Given the description of an element on the screen output the (x, y) to click on. 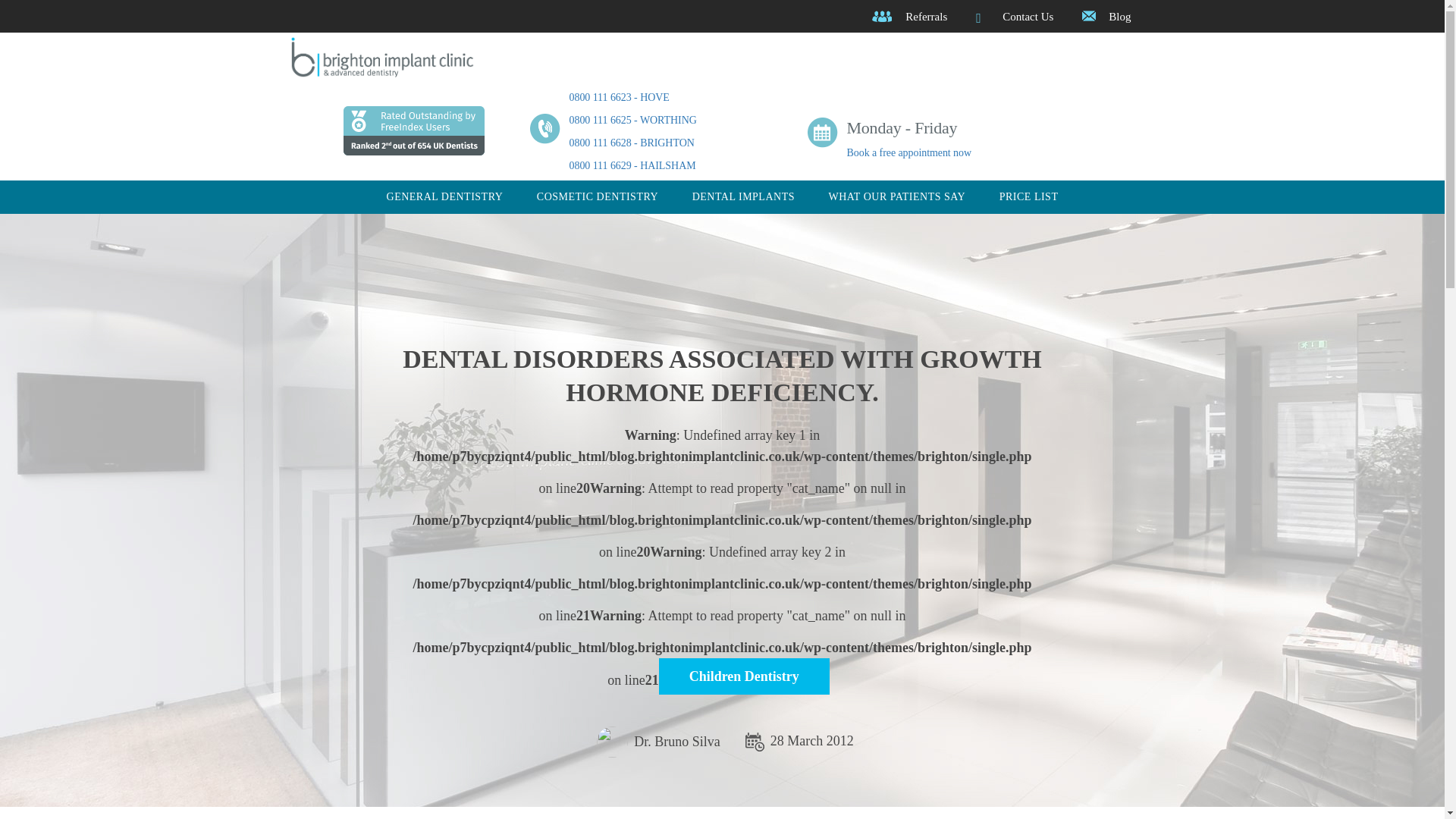
WHAT OUR PATIENTS SAY (896, 196)
Referrals (926, 16)
Contact Us (1027, 16)
GENERAL DENTISTRY (445, 196)
0800 111 6629 - HAILSHAM (632, 165)
0800 111 6628 - BRIGHTON (631, 142)
Blog (1119, 16)
0800 111 6623 - HOVE (618, 97)
PRICE LIST (1028, 196)
0800 111 6625 - WORTHING (632, 120)
